Given the description of an element on the screen output the (x, y) to click on. 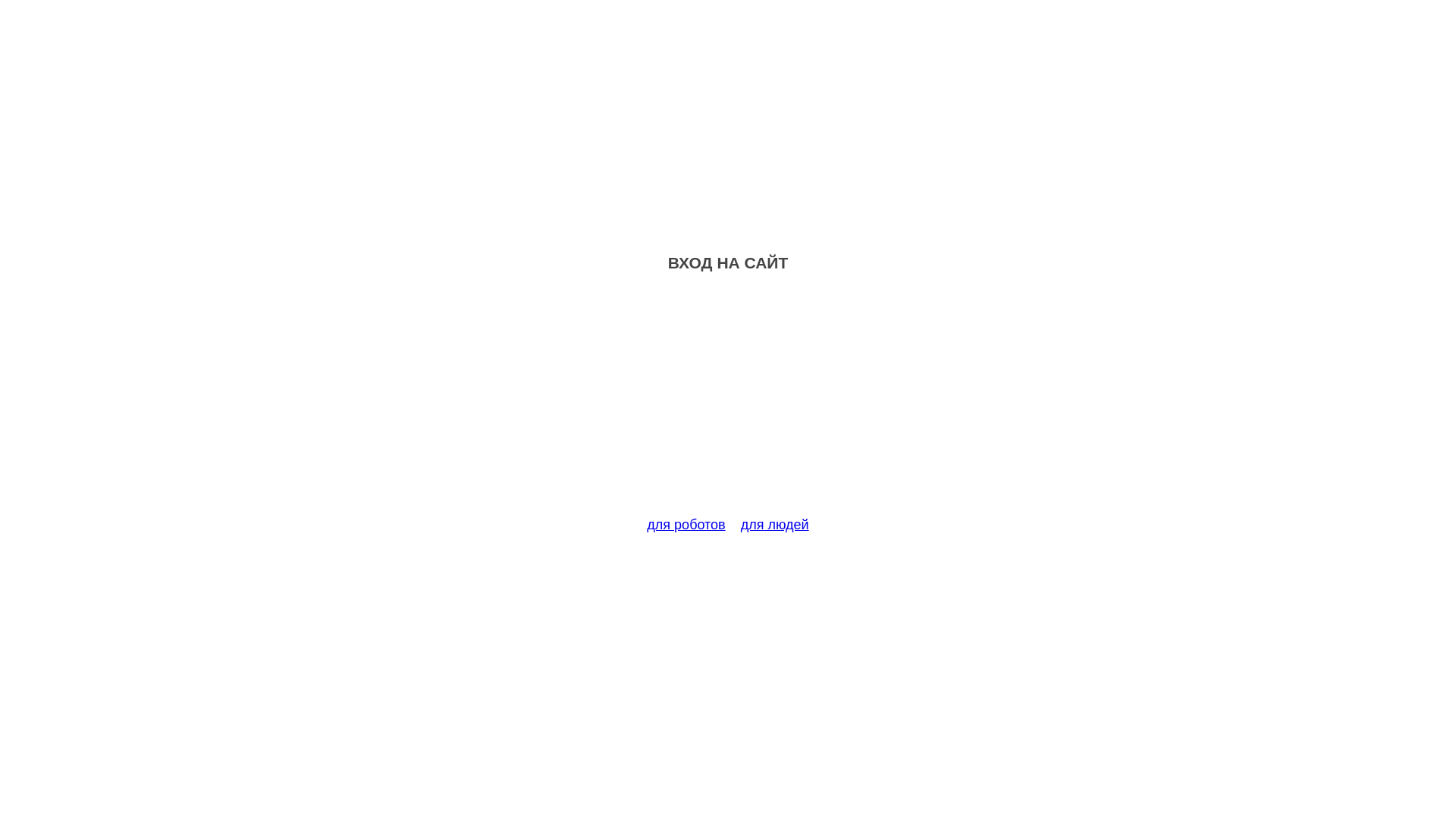
Advertisement Element type: hover (727, 403)
